Given the description of an element on the screen output the (x, y) to click on. 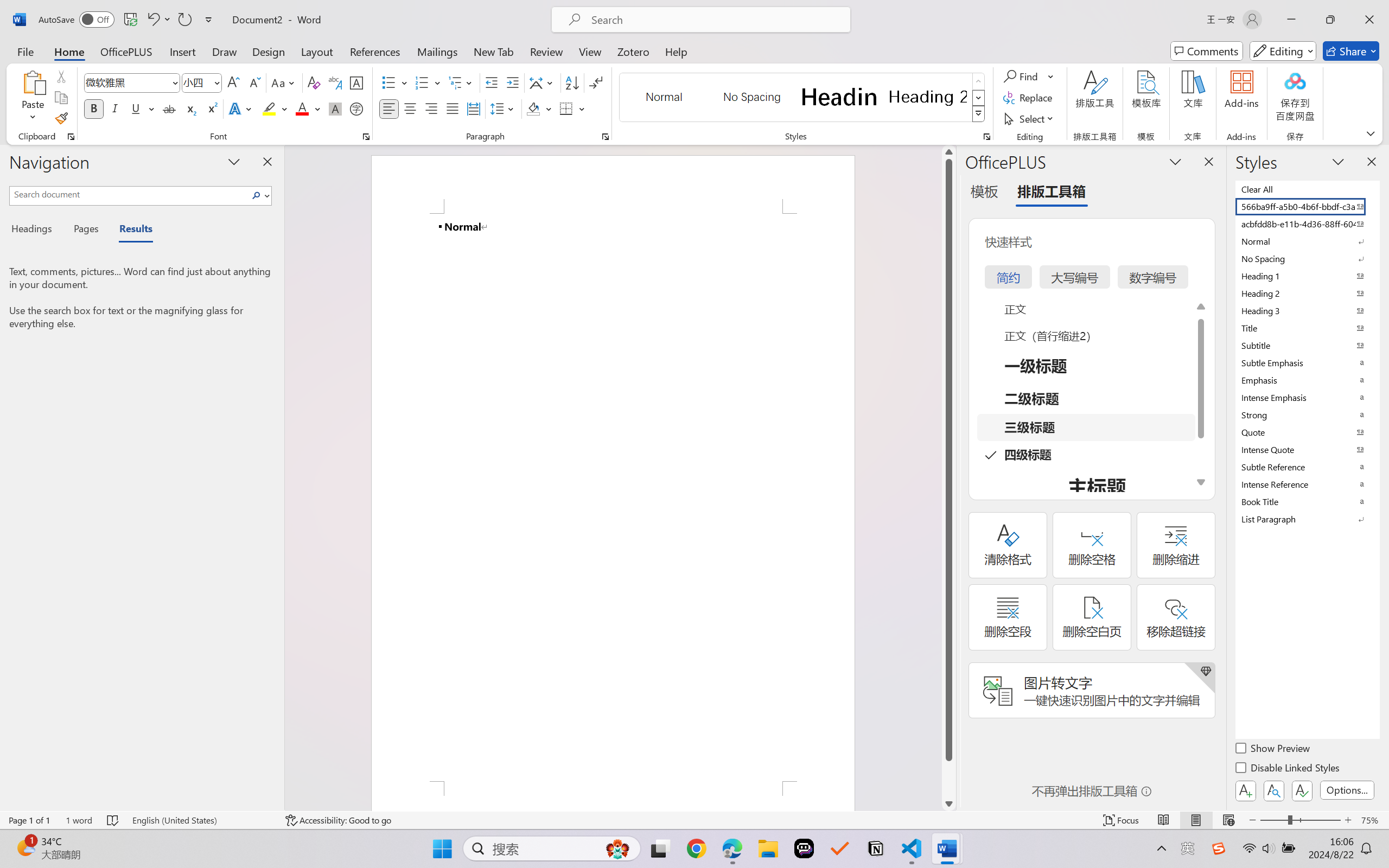
Word Count 1 word (78, 819)
Clear All (1306, 188)
Line and Paragraph Spacing (503, 108)
Styles (978, 113)
Search (259, 195)
Intense Emphasis (1306, 397)
Text Highlight Color Yellow (269, 108)
Numbering (428, 82)
Text Effects and Typography (241, 108)
Phonetic Guide... (334, 82)
Class: NetUIScrollBar (948, 477)
Minimize (1291, 19)
Strong (1306, 414)
acbfdd8b-e11b-4d36-88ff-6049b138f862 (1306, 223)
